Given the description of an element on the screen output the (x, y) to click on. 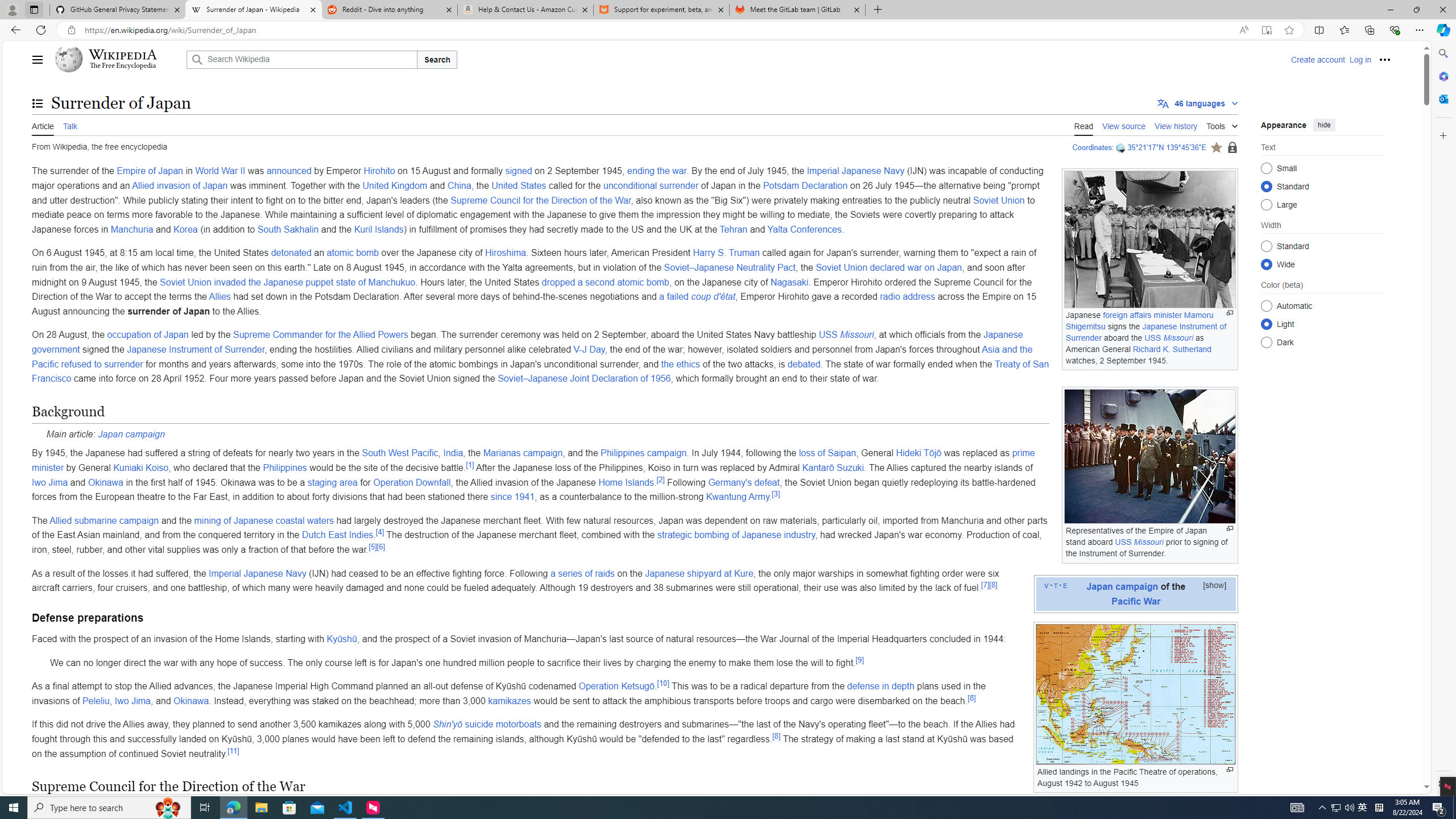
Yalta Conferences (804, 229)
Imperial Japanese Navy (257, 573)
Tehran (733, 229)
Potsdam Declaration (804, 185)
Page semi-protected (1232, 147)
detonated (290, 252)
[4] (379, 532)
occupation of Japan (147, 334)
Wikipedia The Free Encyclopedia (117, 59)
